Given the description of an element on the screen output the (x, y) to click on. 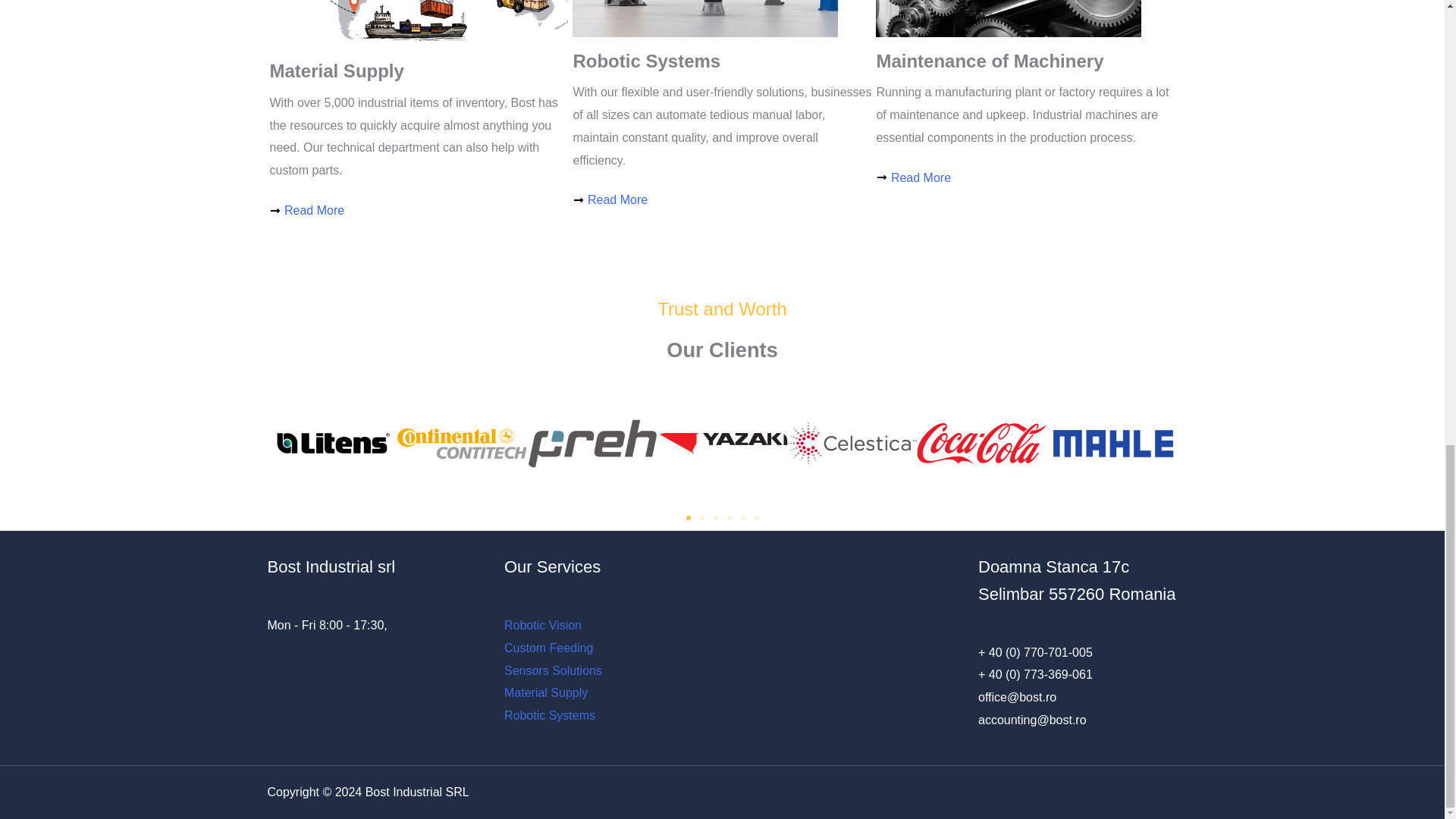
Material Supply (545, 692)
Read More (1024, 178)
Robotic Systems (549, 715)
Read More (721, 200)
Custom Feeding (547, 647)
industrial-robotic-arms (705, 18)
Robotic Vision (541, 625)
Read More (418, 210)
Sensors Solutions (552, 670)
